Given the description of an element on the screen output the (x, y) to click on. 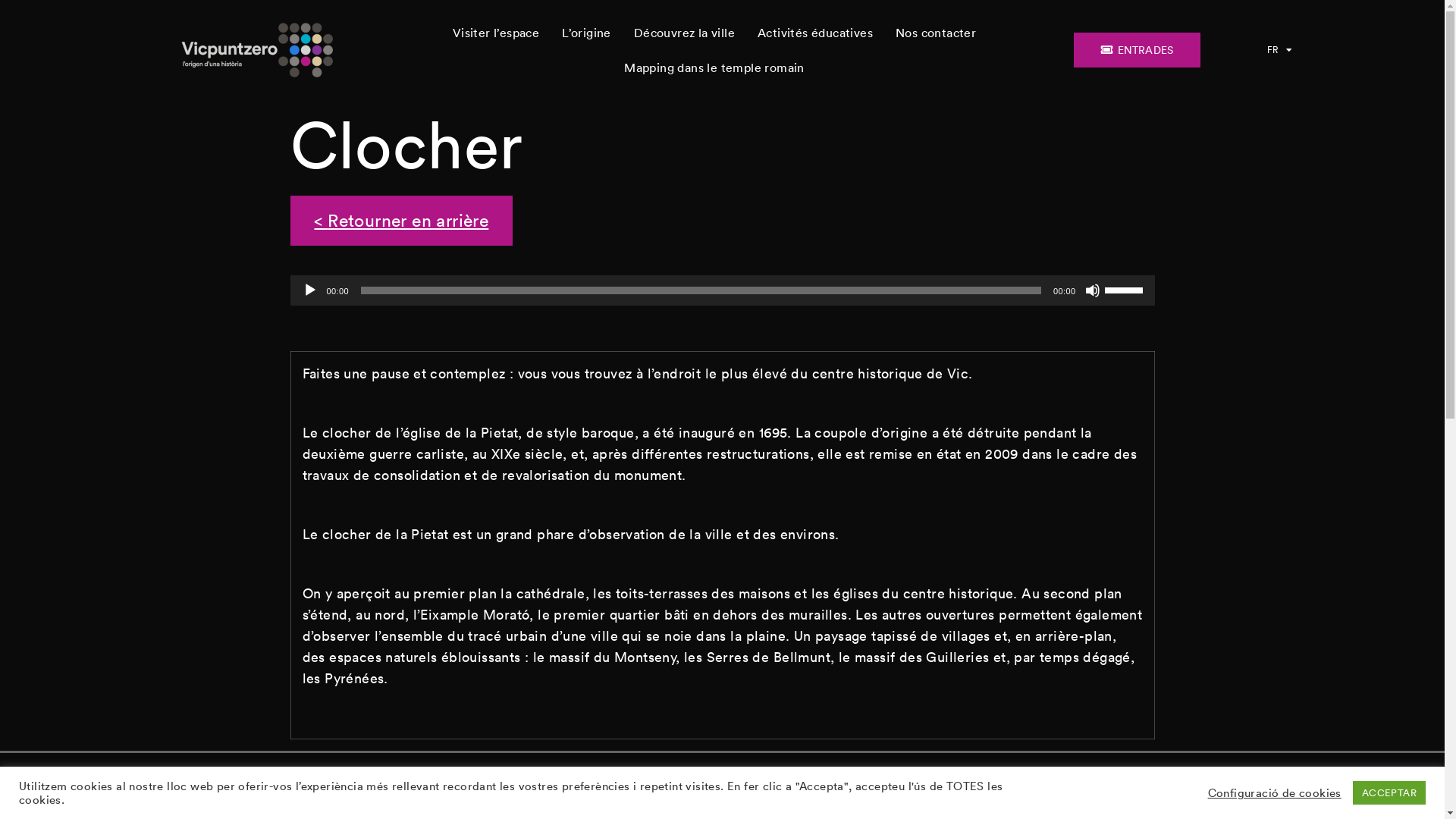
Mapping dans le temple romain Element type: text (713, 67)
Lecture Element type: hover (308, 290)
ACCEPTAR Element type: text (1388, 792)
Muet Element type: hover (1091, 290)
FR Element type: text (1279, 49)
Nos contacter Element type: text (935, 32)
ENTRADES Element type: text (1136, 49)
